Given the description of an element on the screen output the (x, y) to click on. 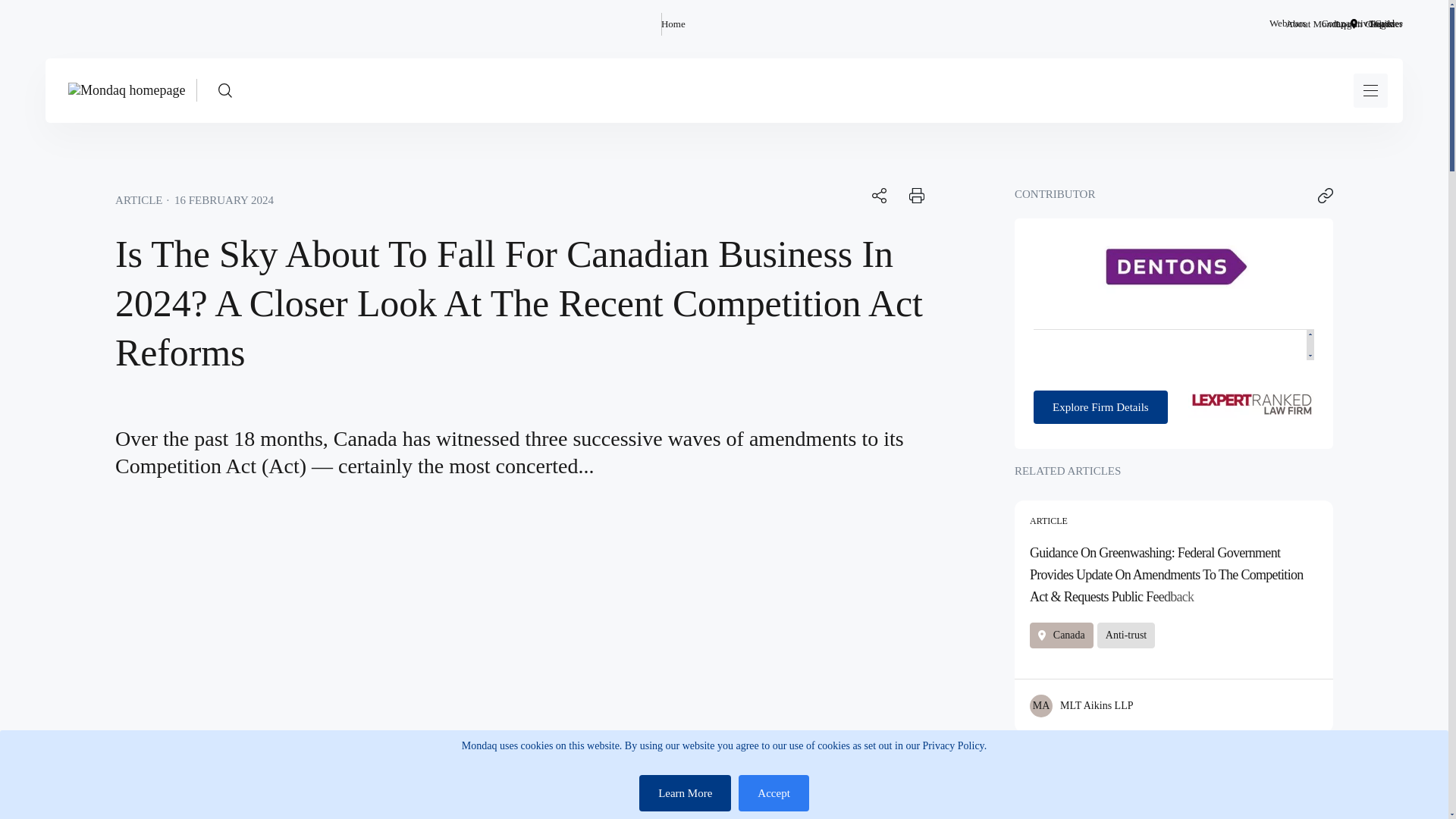
About Mondaq (1315, 24)
Home (673, 24)
Comparative Guides (1362, 23)
Webinars (1287, 23)
